Given the description of an element on the screen output the (x, y) to click on. 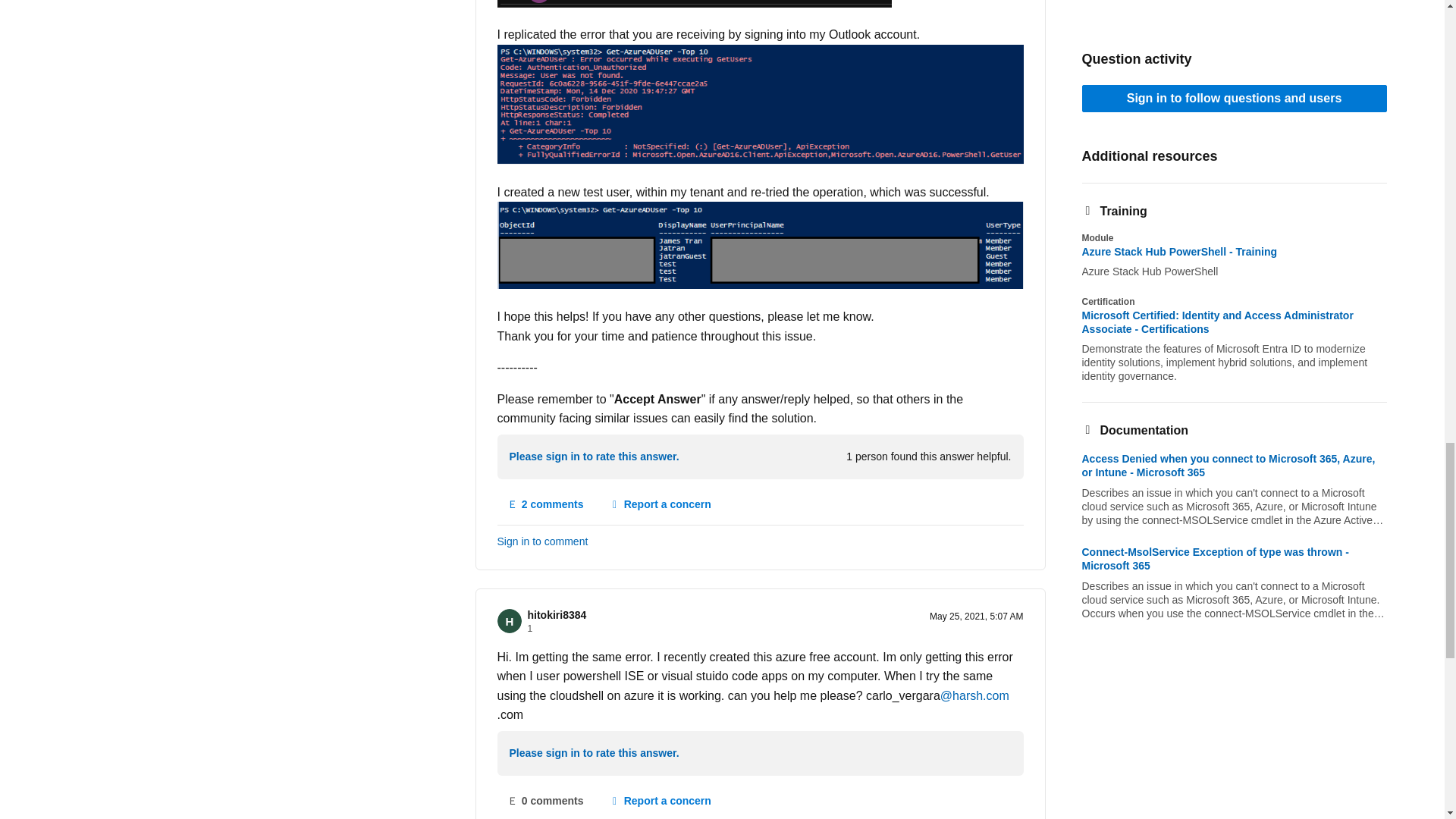
Show comments for this answer (545, 504)
Report a concern (659, 504)
